Given the description of an element on the screen output the (x, y) to click on. 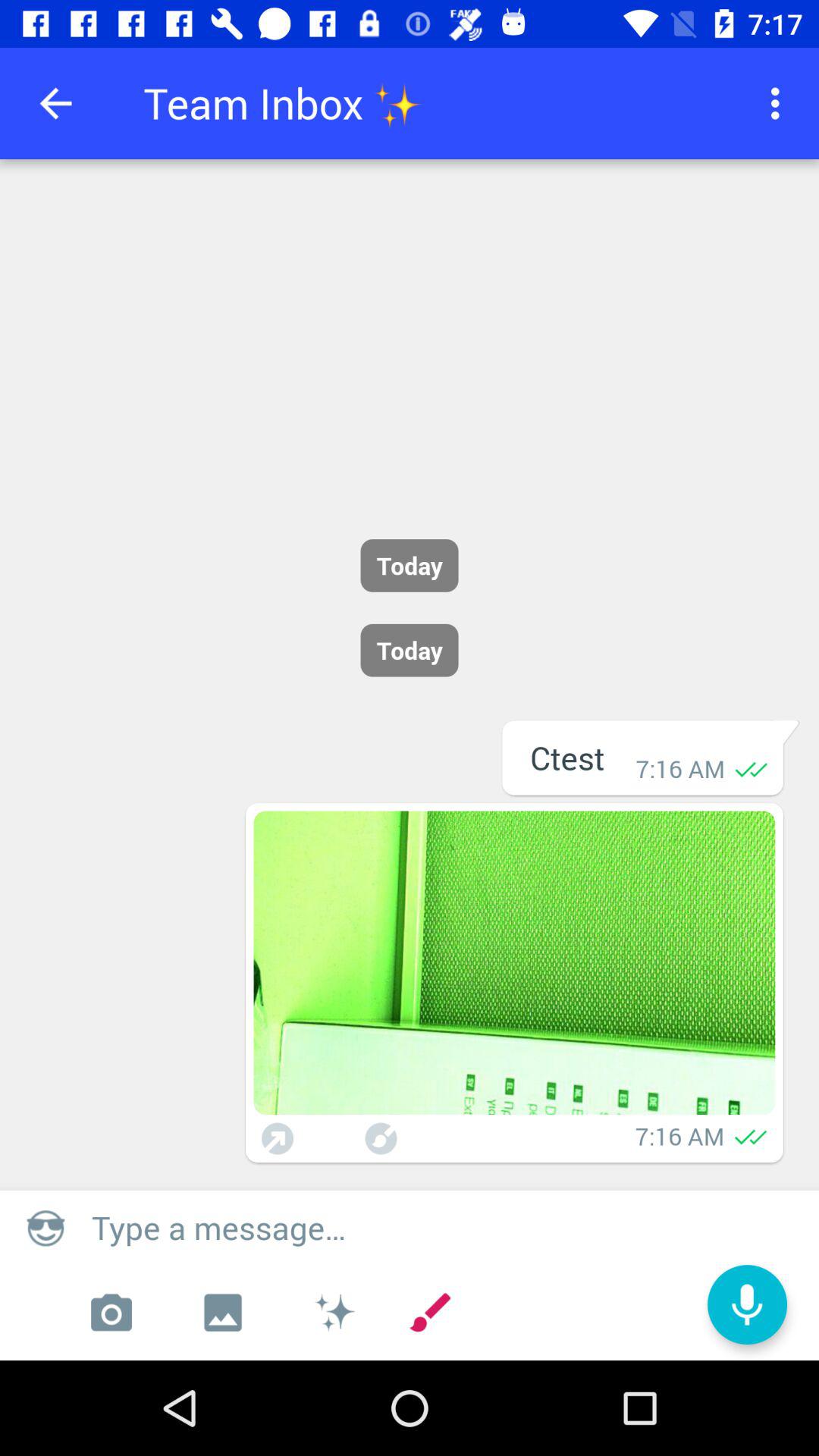
go to camera (111, 1312)
